Given the description of an element on the screen output the (x, y) to click on. 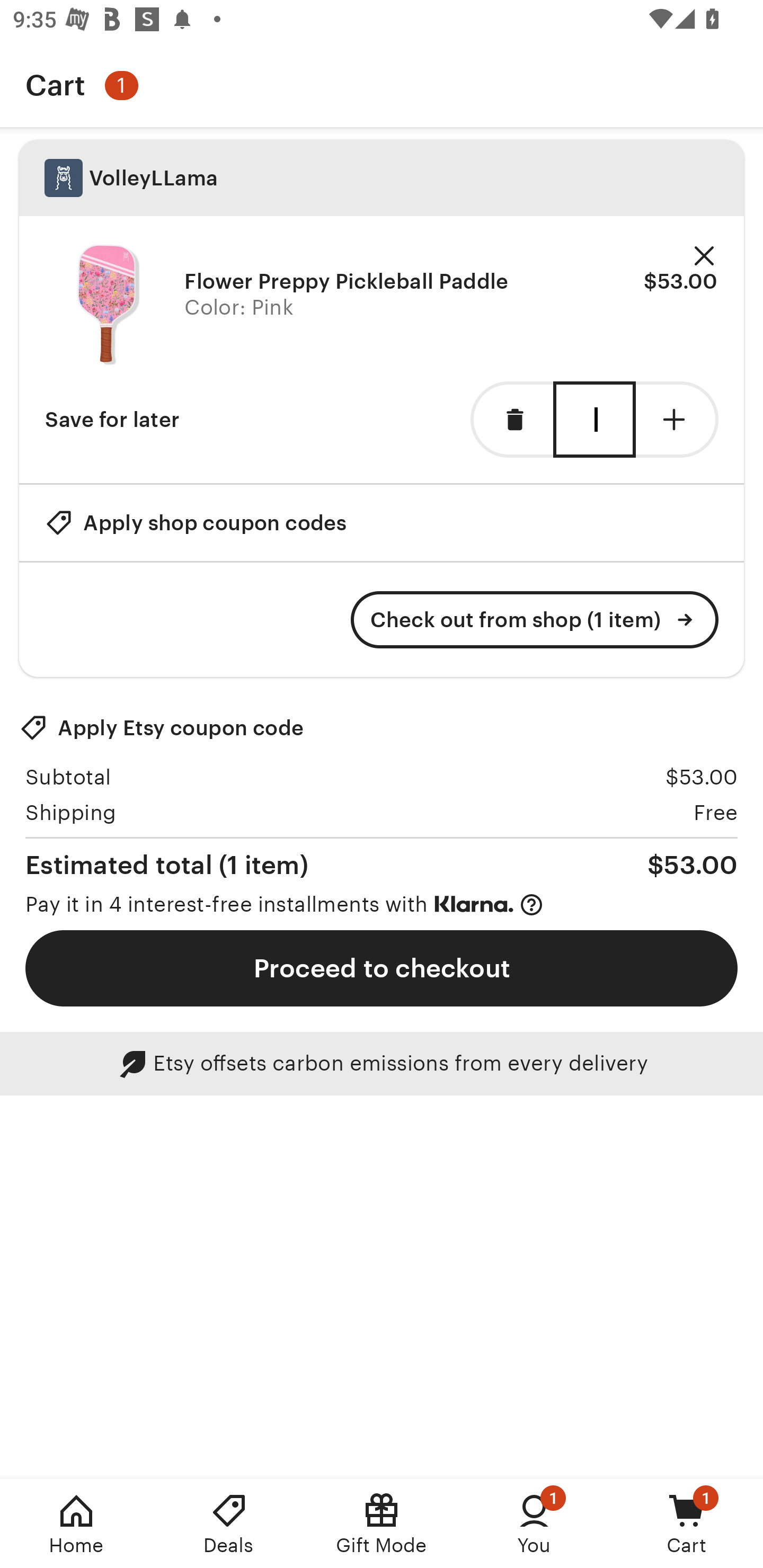
VolleyLLama (381, 177)
Remove (704, 255)
Flower Preppy Pickleball Paddle (107, 304)
Flower Preppy Pickleball Paddle (346, 281)
Save for later (112, 419)
Remove item from cart (511, 419)
Add one unit to cart (676, 419)
Apply shop coupon codes (195, 522)
Check out from shop (1 item) (534, 619)
Apply Etsy coupon code (161, 727)
Proceed to checkout (381, 967)
Home (76, 1523)
Deals (228, 1523)
Gift Mode (381, 1523)
You, 1 new notification You (533, 1523)
